Given the description of an element on the screen output the (x, y) to click on. 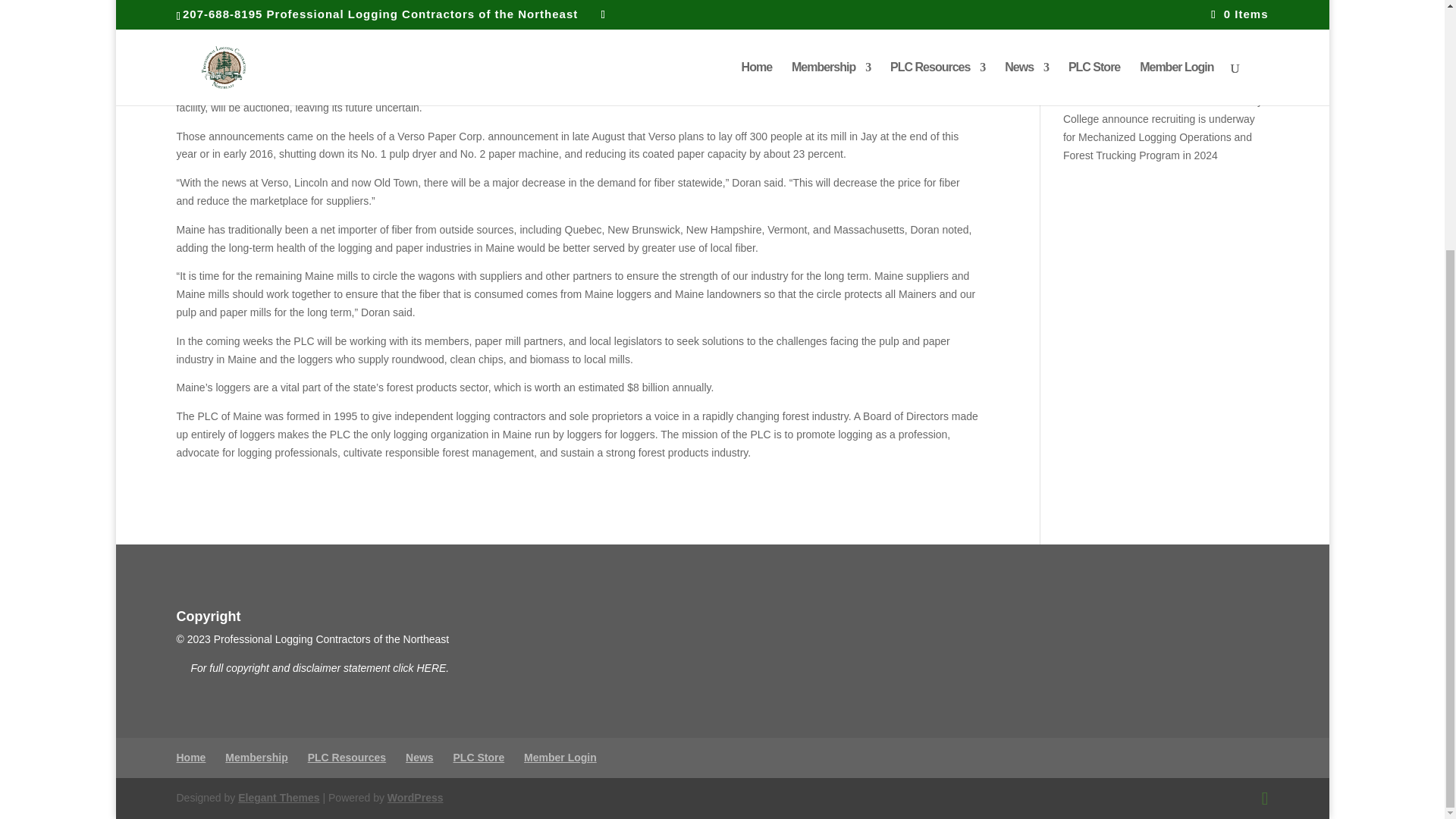
Premium WordPress Themes (278, 797)
